Given the description of an element on the screen output the (x, y) to click on. 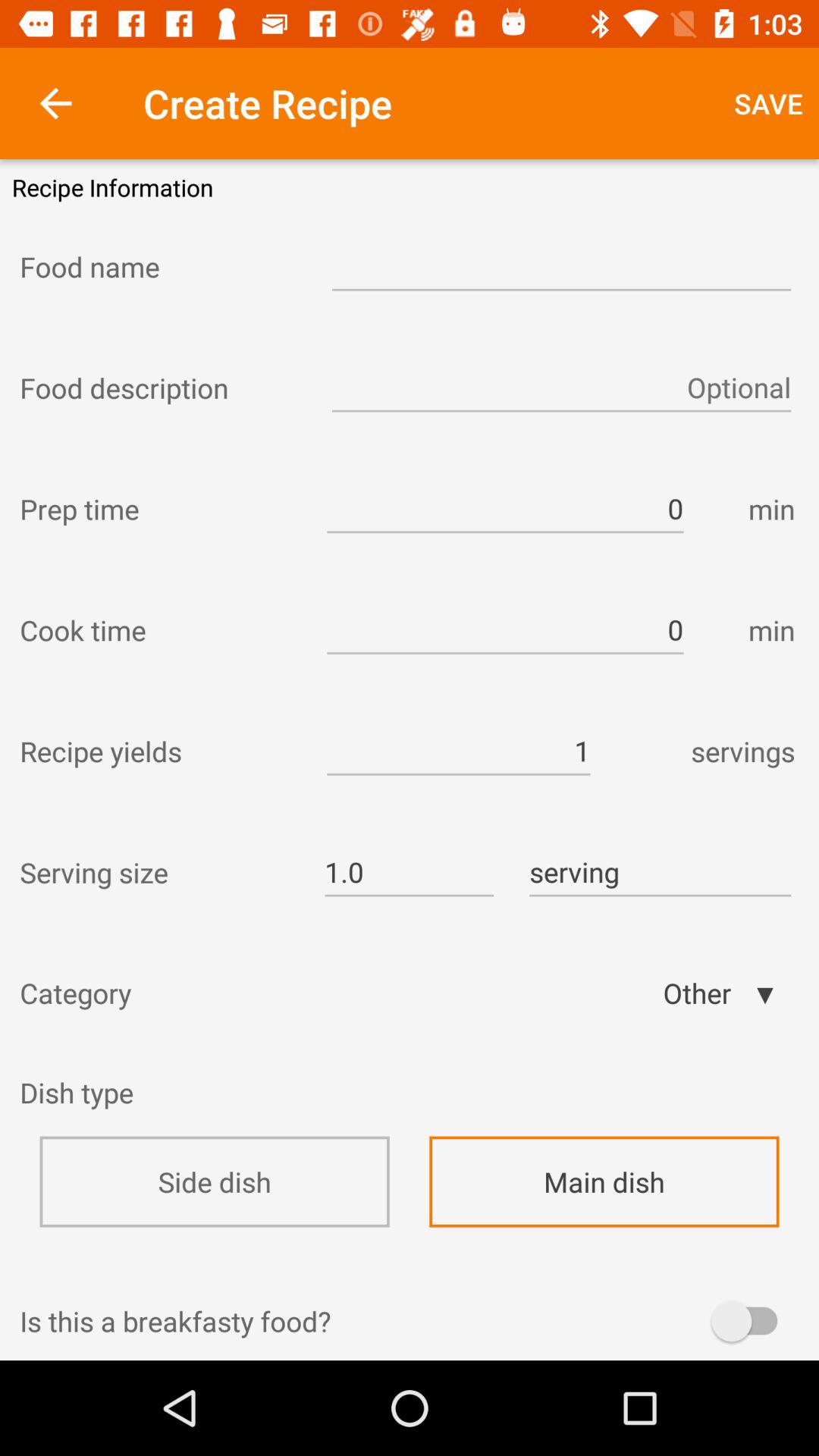
click the icon to the left of the 1.0 (157, 872)
